Given the description of an element on the screen output the (x, y) to click on. 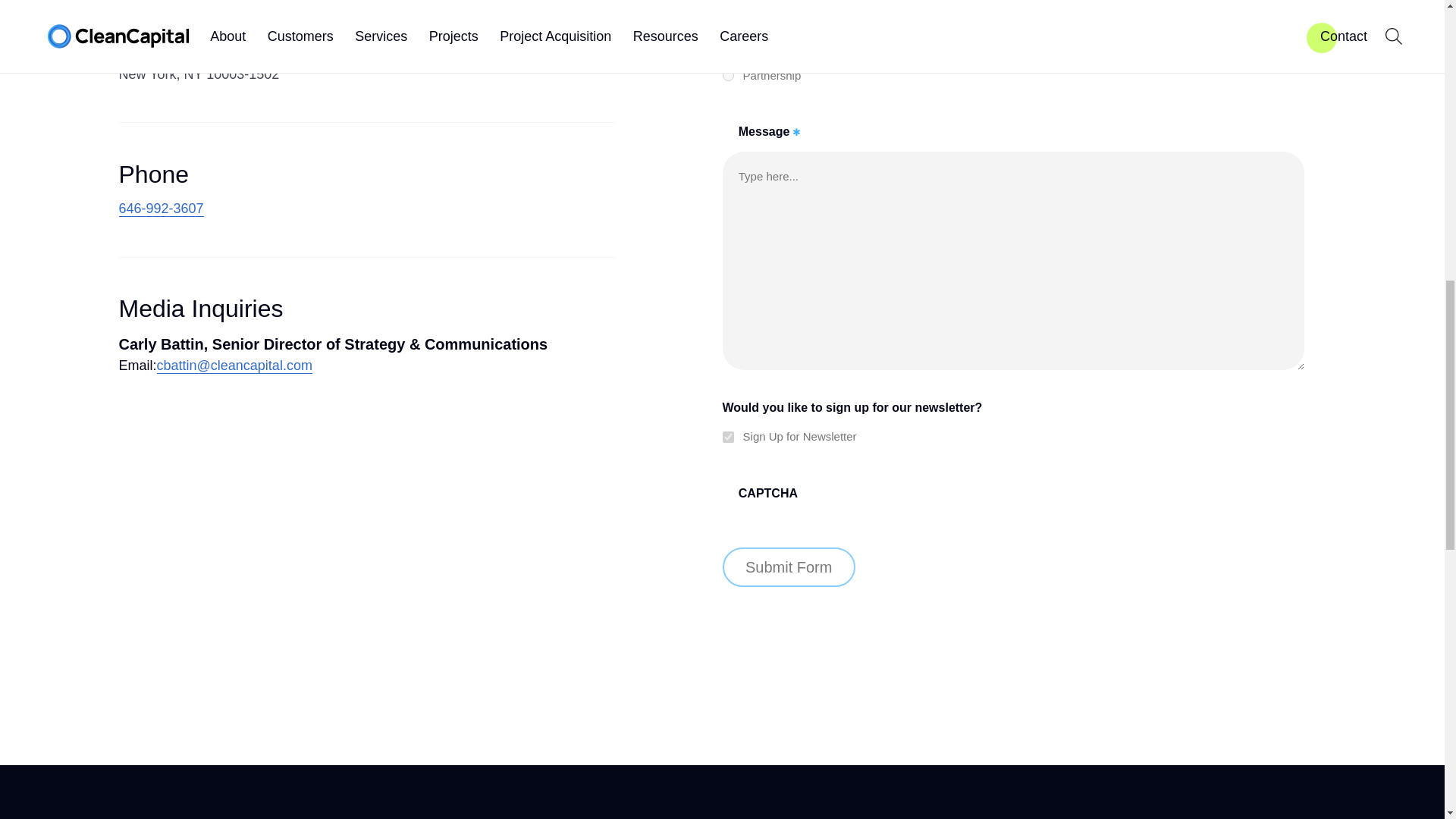
Sign Up for Newsletter (727, 437)
Submit Form (788, 567)
646-992-3607 (160, 208)
Careers (727, 19)
General Inquiry (727, 48)
Partnership (727, 75)
Submit Form (788, 567)
